Given the description of an element on the screen output the (x, y) to click on. 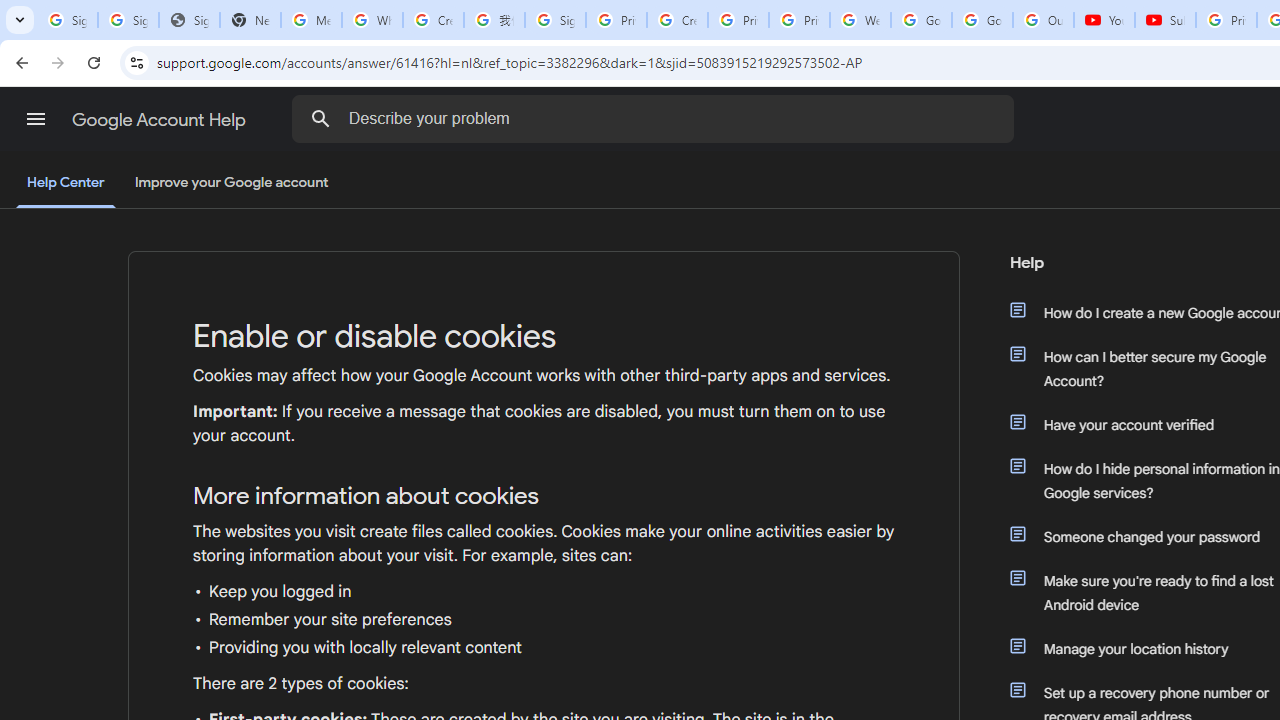
Help Center (65, 183)
Welcome to My Activity (859, 20)
Sign in - Google Accounts (128, 20)
